Given the description of an element on the screen output the (x, y) to click on. 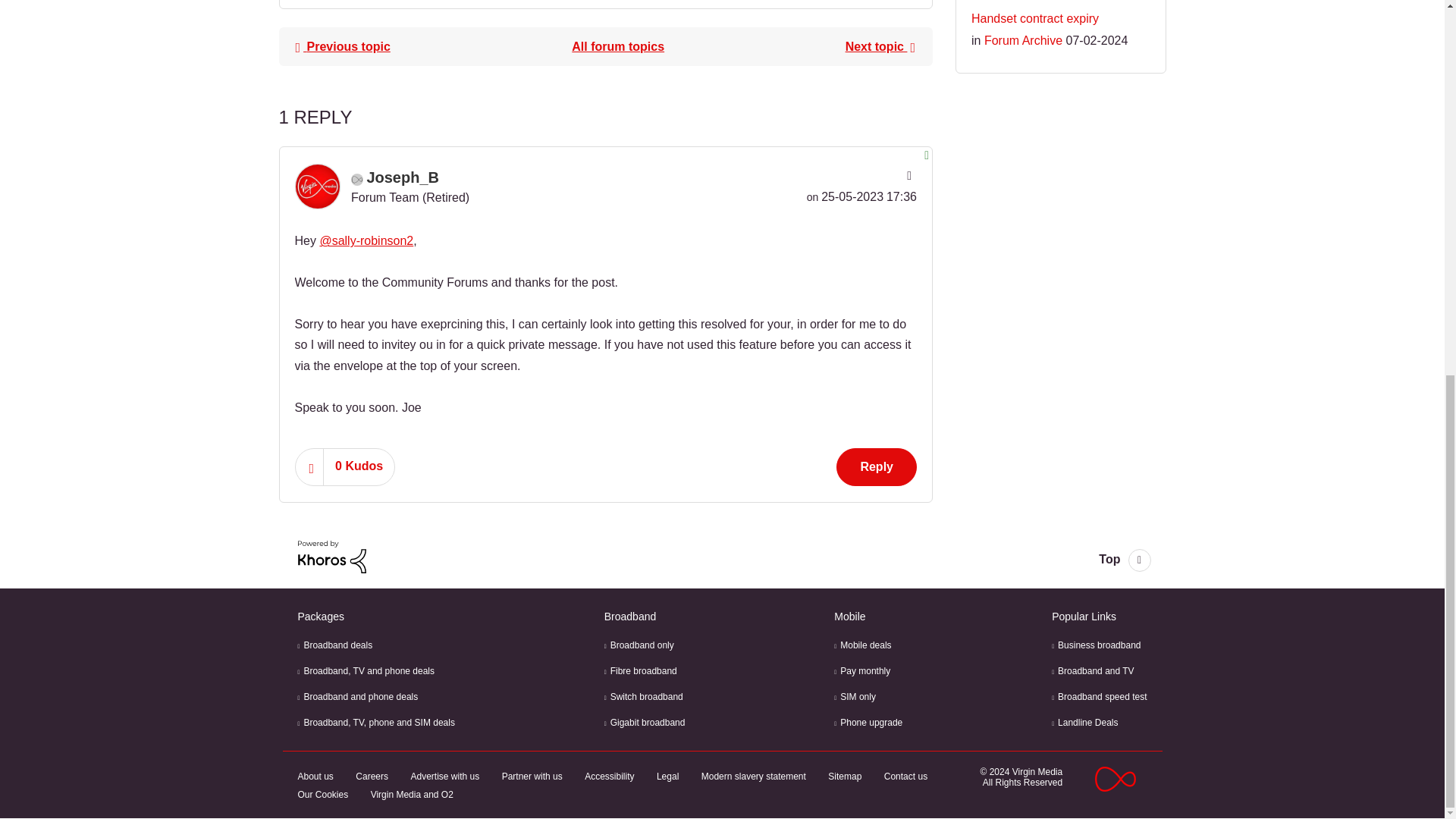
Forum Archive (618, 46)
Locked out of e mail account (341, 46)
The total number of kudos this post has received. (358, 466)
